Given the description of an element on the screen output the (x, y) to click on. 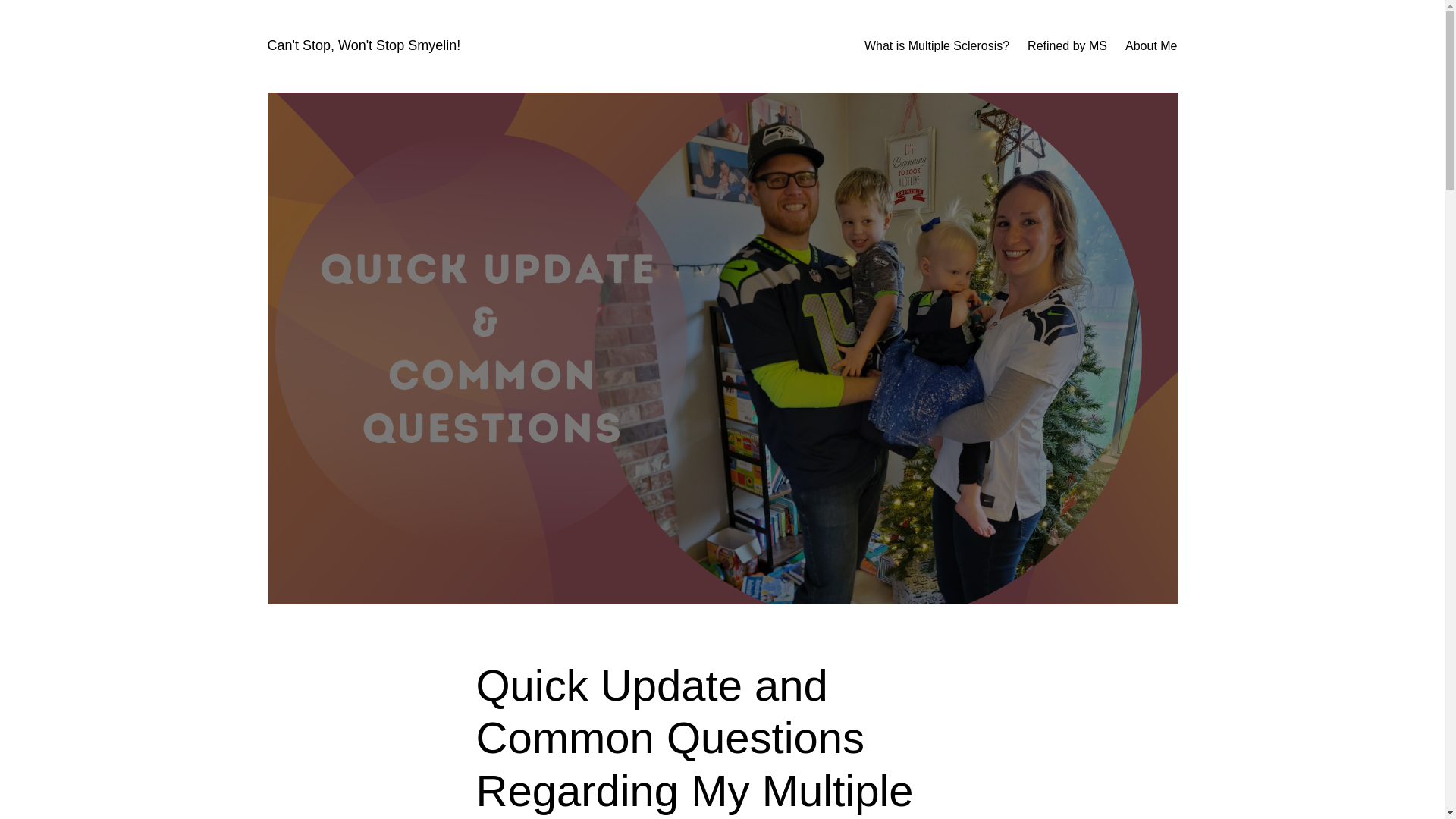
About Me (1150, 46)
What is Multiple Sclerosis? (936, 46)
Can't Stop, Won't Stop Smyelin! (363, 45)
Refined by MS (1066, 46)
